Given the description of an element on the screen output the (x, y) to click on. 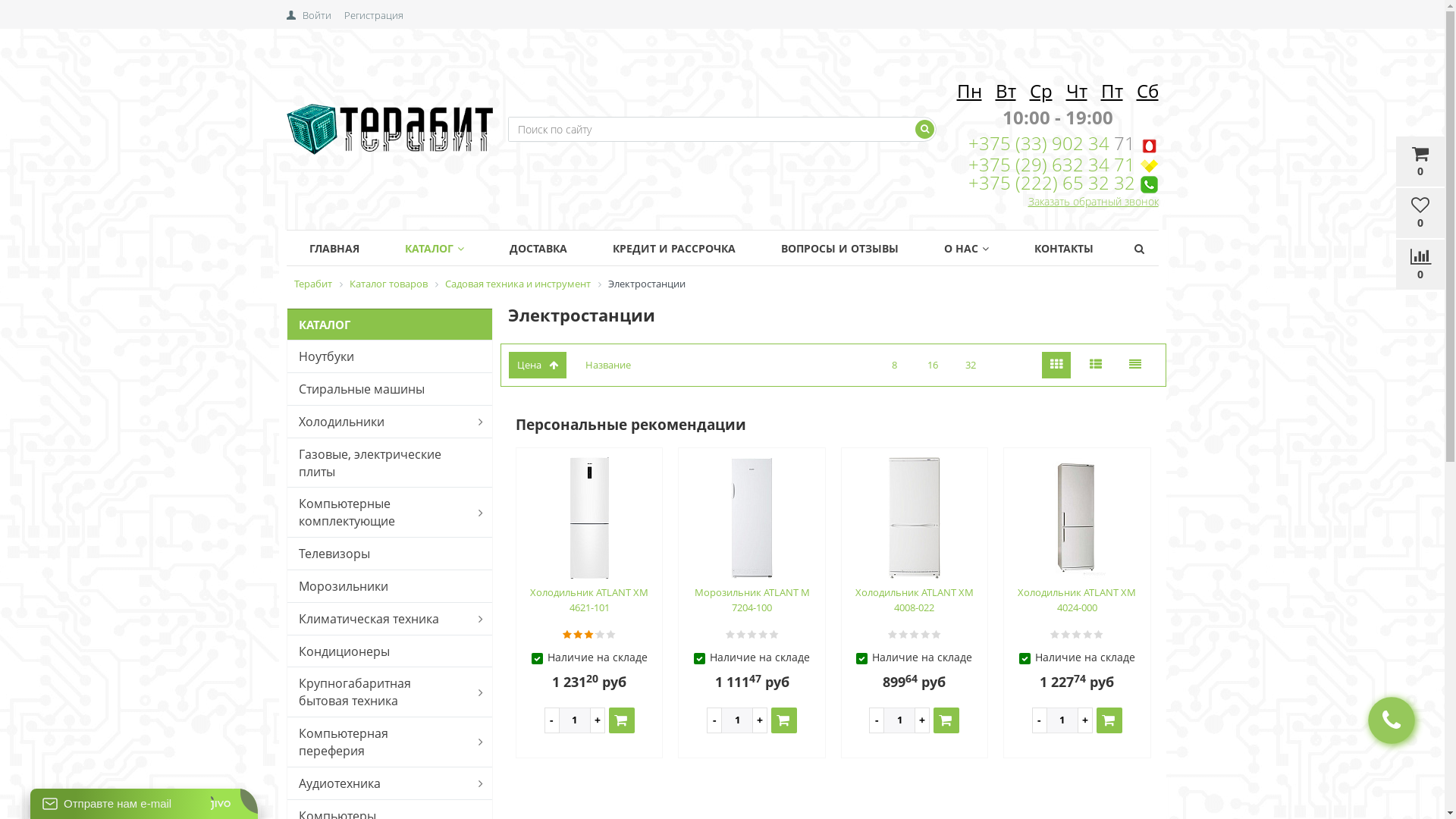
+375 (222) 65 32 32 Element type: text (1050, 181)
+375 (29) 632 34 71 Element type: text (1050, 163)
velcom.png Element type: hover (1148, 166)
0 Element type: text (1420, 162)
+375 (33) 902 34 Element type: text (1040, 142)
16 Element type: text (932, 364)
8 Element type: text (894, 364)
0 Element type: text (1420, 214)
MTS.png Element type: hover (1148, 145)
32 Element type: text (970, 364)
0 Element type: text (1420, 265)
Telefon Element type: hover (1148, 184)
